Given the description of an element on the screen output the (x, y) to click on. 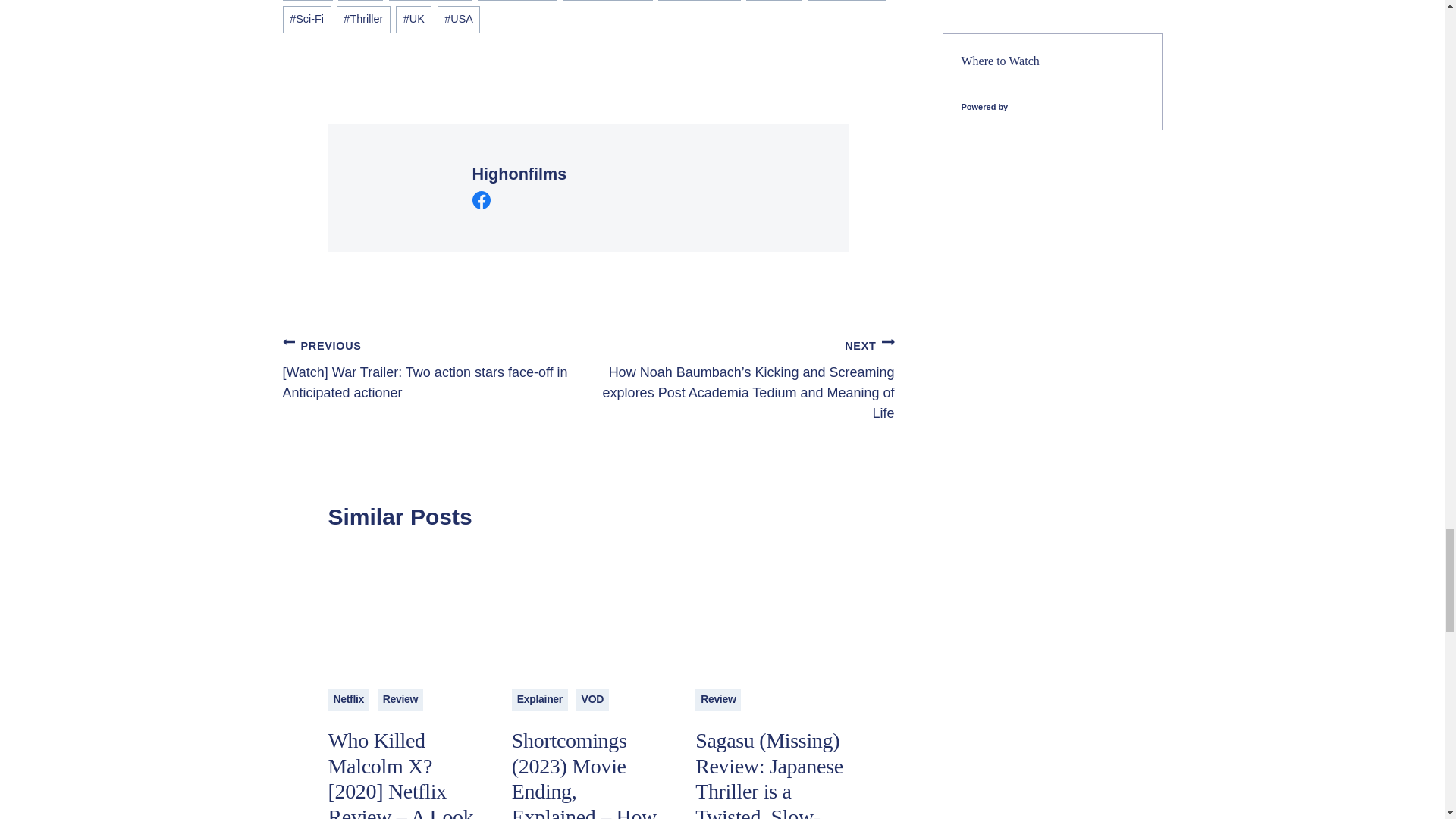
UK (413, 18)
Thriller (363, 18)
English (773, 0)
2007 (359, 0)
USA (459, 18)
Posts by highonfilms (518, 173)
2000s (306, 0)
